Given the description of an element on the screen output the (x, y) to click on. 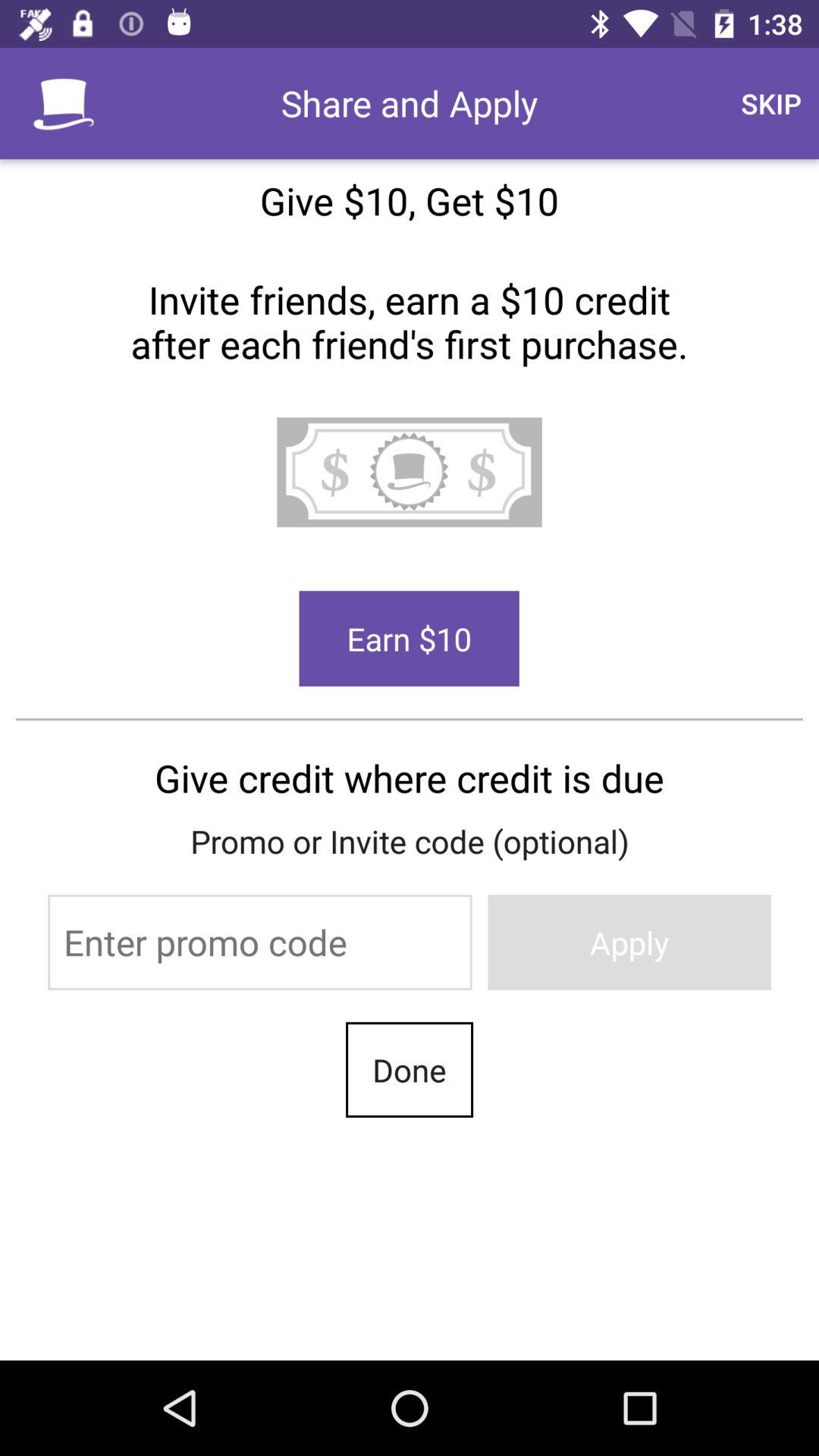
press icon next to apply item (259, 942)
